Given the description of an element on the screen output the (x, y) to click on. 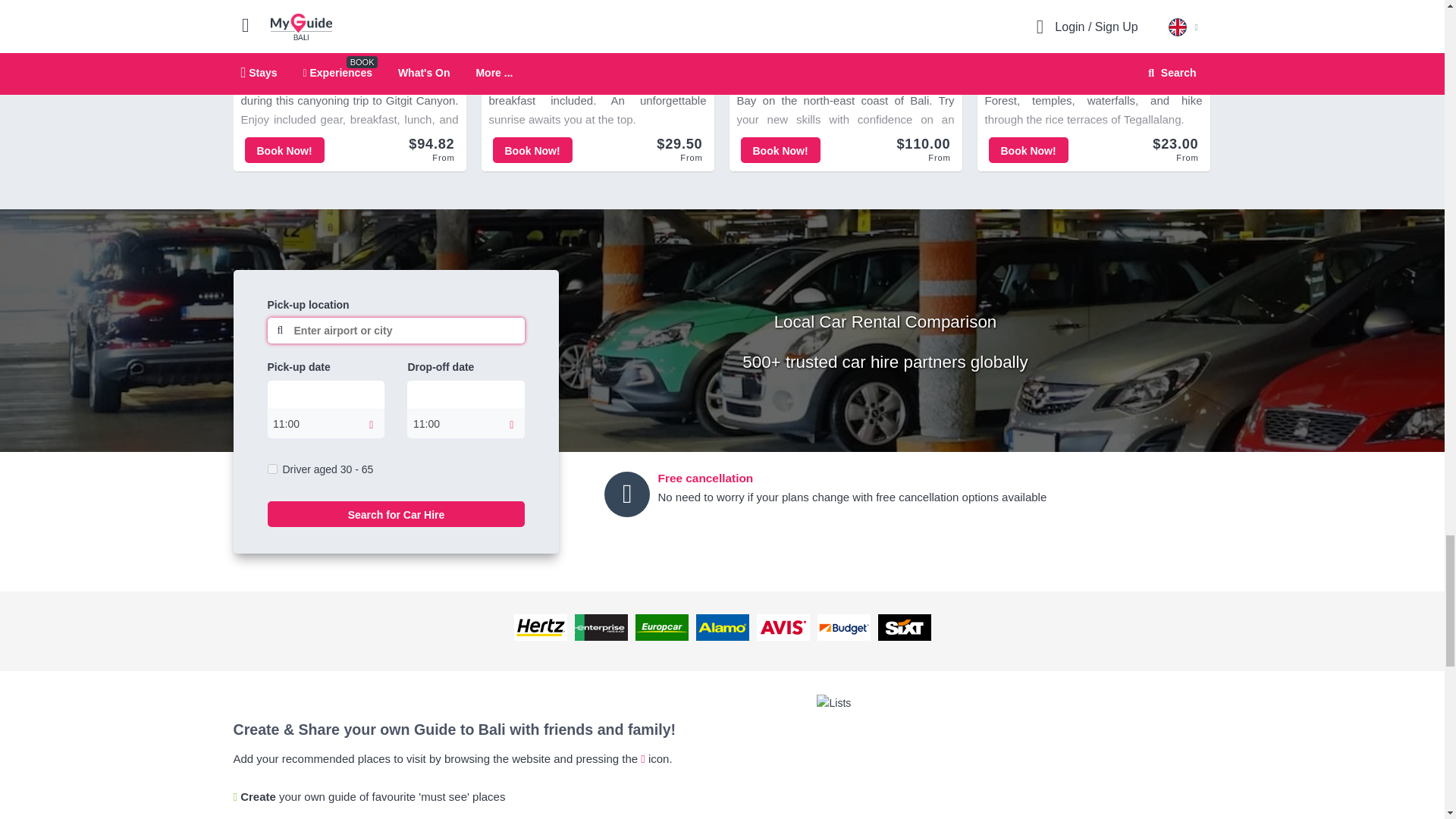
on (271, 469)
